Given the description of an element on the screen output the (x, y) to click on. 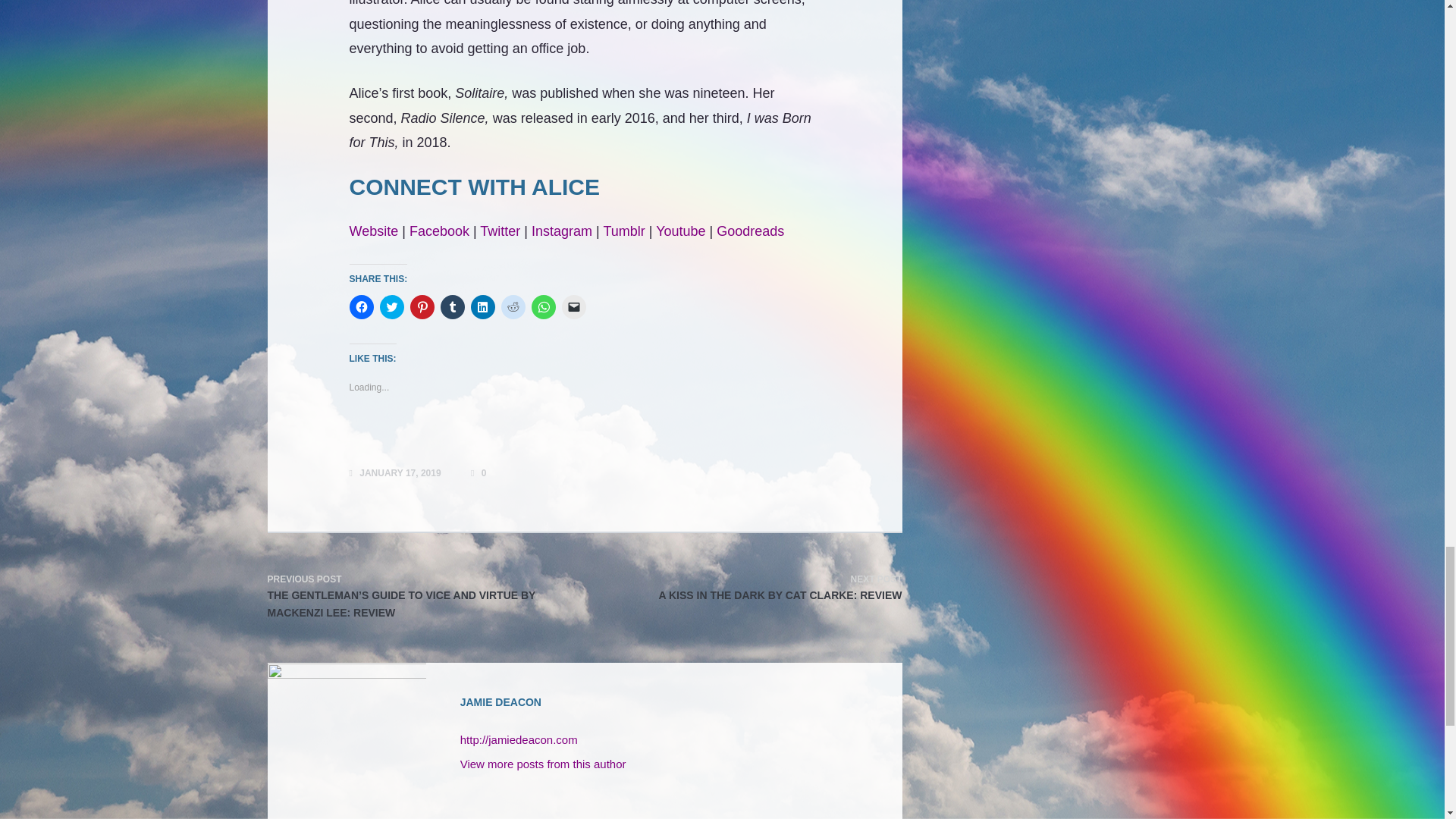
Click to share on LinkedIn (482, 306)
Click to share on Facebook (360, 306)
Click to share on Pinterest (421, 306)
Click to share on Reddit (512, 306)
Click to share on WhatsApp (542, 306)
Click to share on Tumblr (451, 306)
Website (373, 231)
Click to email a link to a friend (572, 306)
Click to share on Twitter (390, 306)
